Given the description of an element on the screen output the (x, y) to click on. 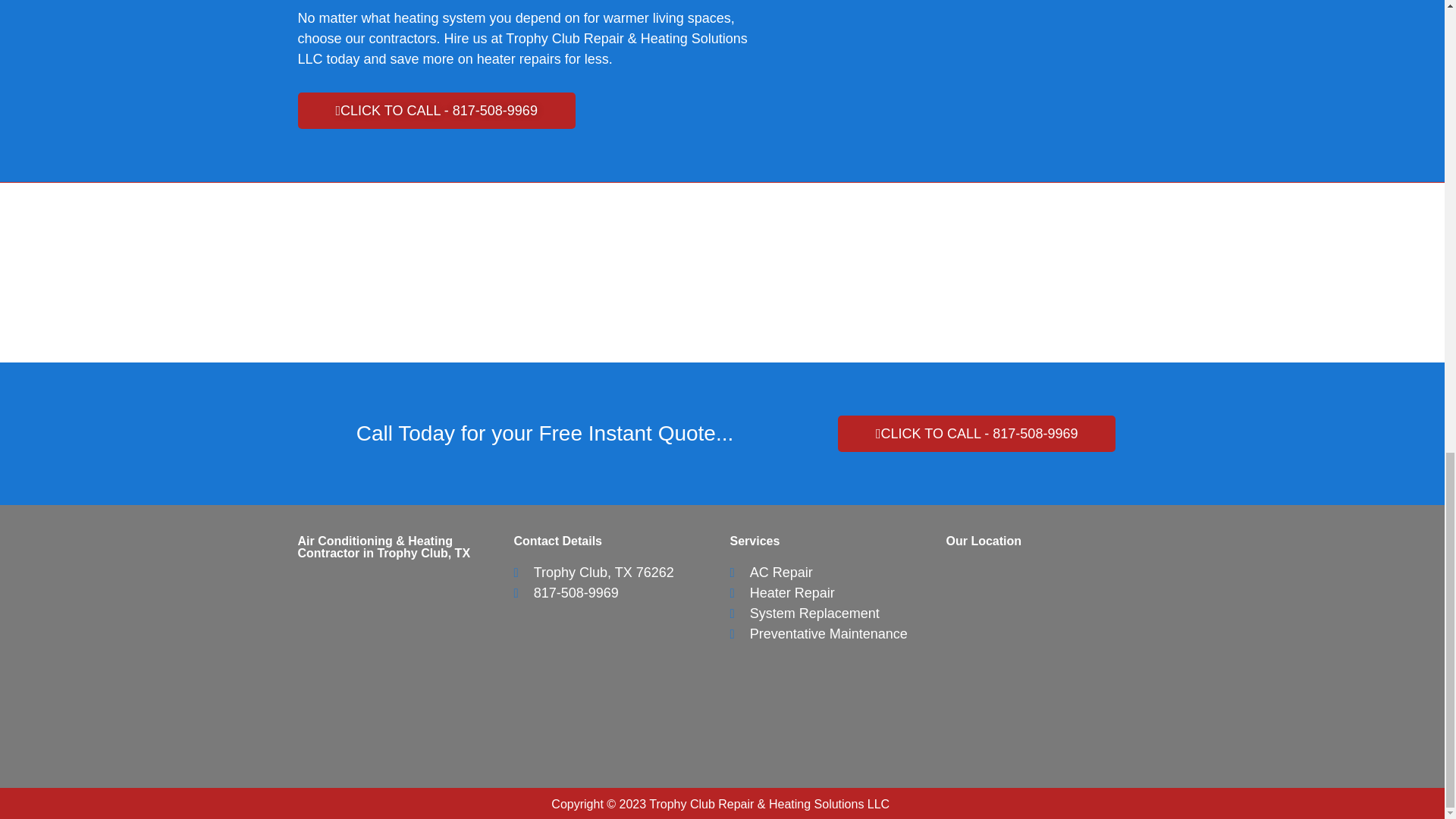
Preventative Maintenance (818, 634)
AC Repair (770, 572)
Heater Repair (781, 593)
Trophy Club, TX 76262 (593, 572)
CLICK TO CALL - 817-508-9969 (976, 433)
System Replacement (804, 613)
CLICK TO CALL - 817-508-9969 (436, 110)
817-508-9969 (565, 593)
